Given the description of an element on the screen output the (x, y) to click on. 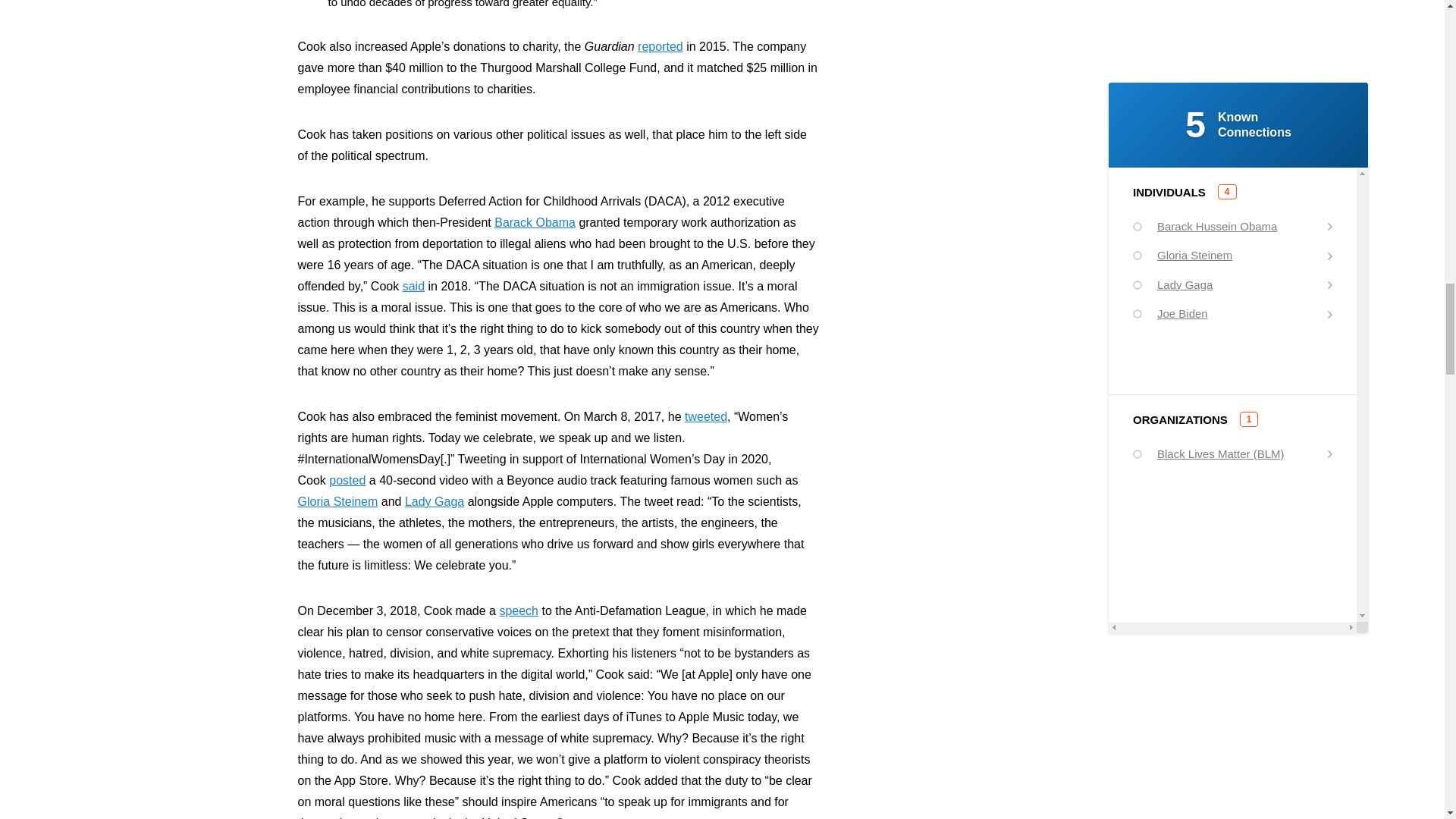
posted (347, 480)
Gloria Steinem (337, 501)
Barack Obama (535, 222)
tweeted (705, 416)
Lady Gaga (434, 501)
said (414, 286)
reported (659, 46)
speech (518, 610)
